Given the description of an element on the screen output the (x, y) to click on. 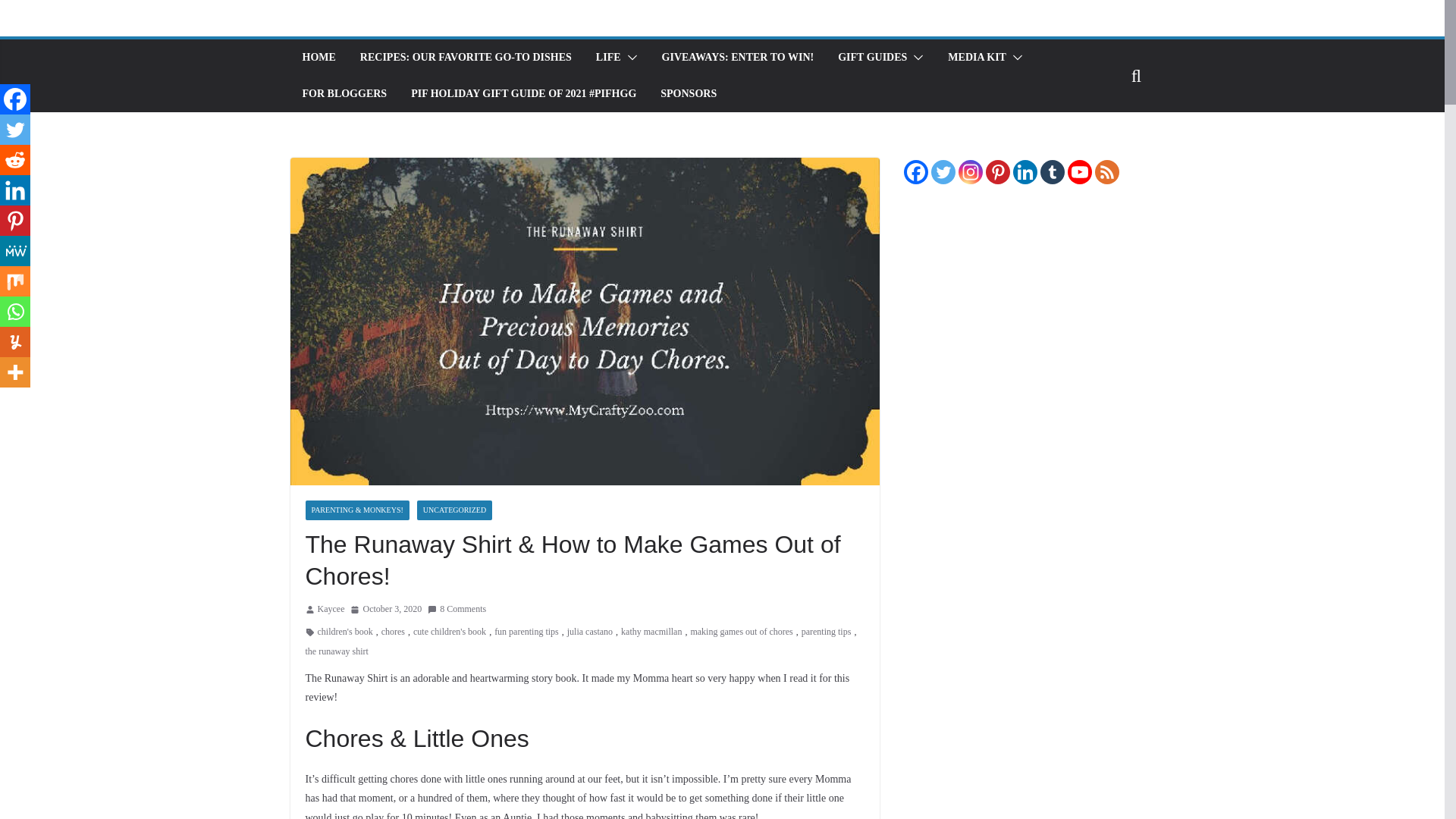
Linkedin (15, 190)
RECIPES: OUR FAVORITE GO-TO DISHES (465, 56)
Kaycee (330, 609)
7:52 pm (386, 609)
Yummly (15, 341)
Mix (15, 281)
MeWe (15, 250)
Twitter (15, 129)
FOR BLOGGERS (344, 93)
Whatsapp (15, 311)
